Given the description of an element on the screen output the (x, y) to click on. 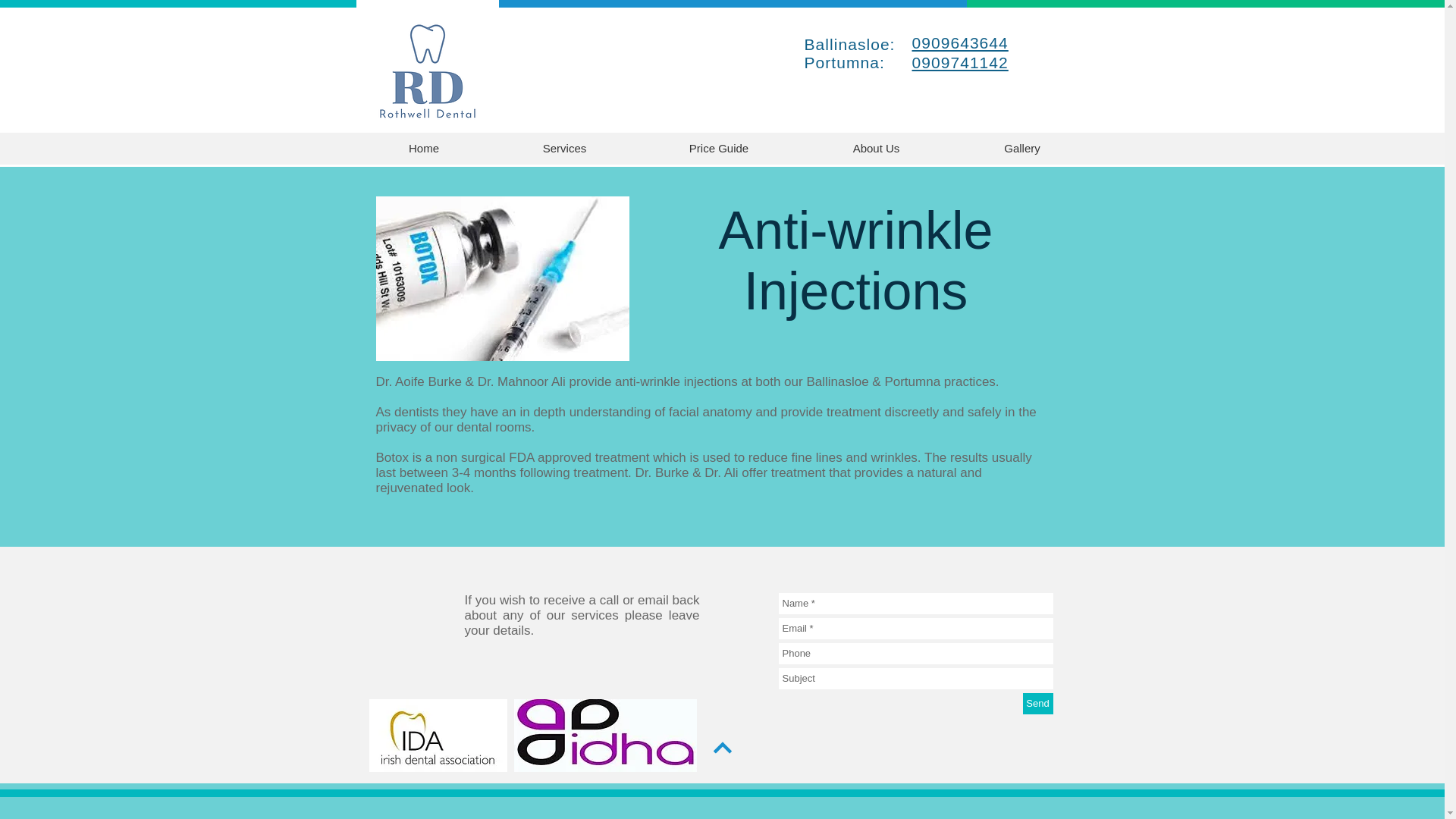
Gallery (1022, 147)
Ballinasloe: (849, 44)
Send (1037, 703)
Services (564, 147)
About Us (876, 147)
0909643644 (959, 43)
Home (424, 147)
Price Guide (718, 147)
Original.png (427, 71)
Portumna:     (854, 62)
0909741142 (959, 63)
